Given the description of an element on the screen output the (x, y) to click on. 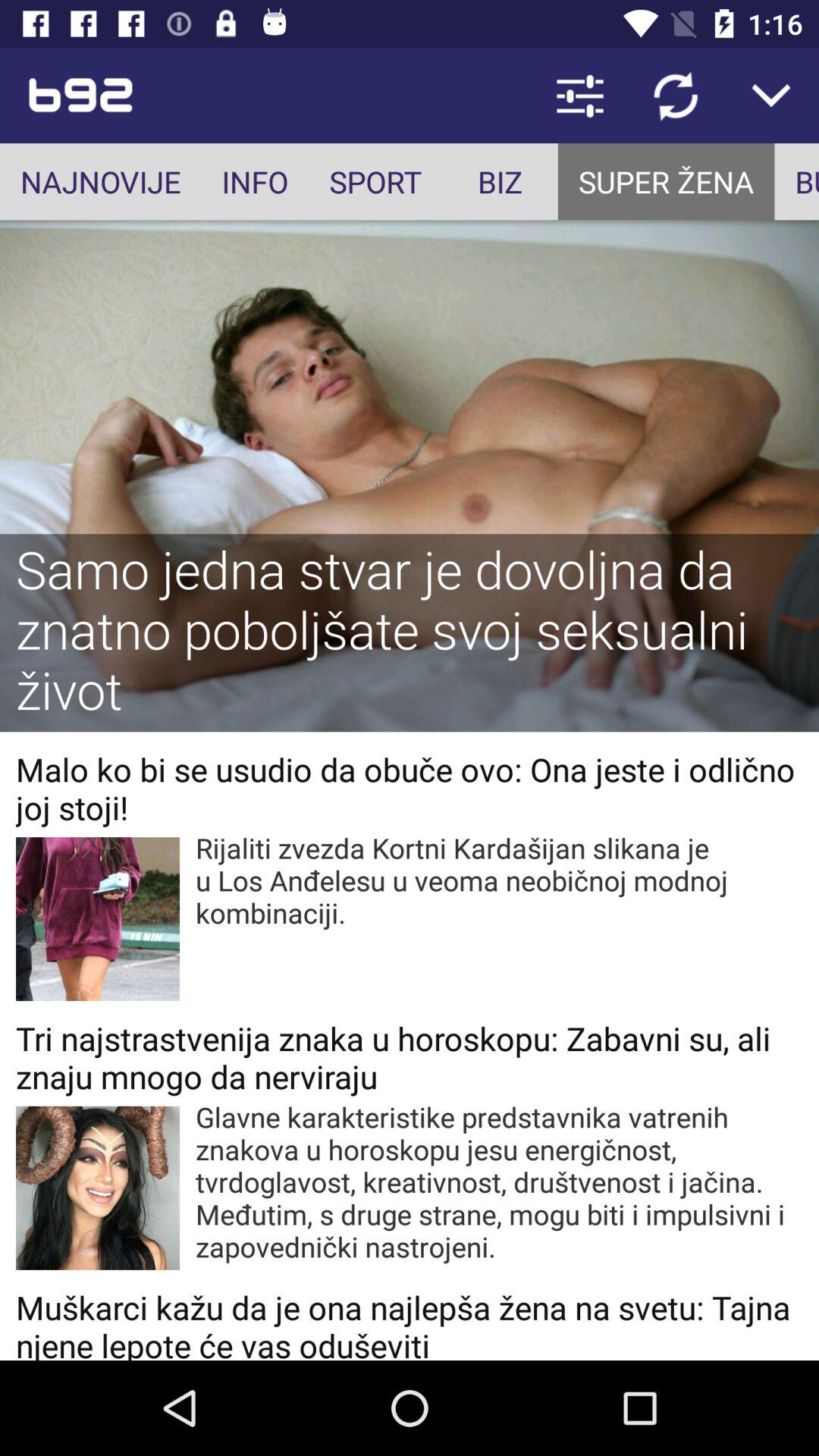
select image at middle left (97, 919)
click on third image on page (97, 1187)
click on info button (254, 180)
incorrect bounding box (796, 180)
select drop down button at top right (771, 95)
